Given the description of an element on the screen output the (x, y) to click on. 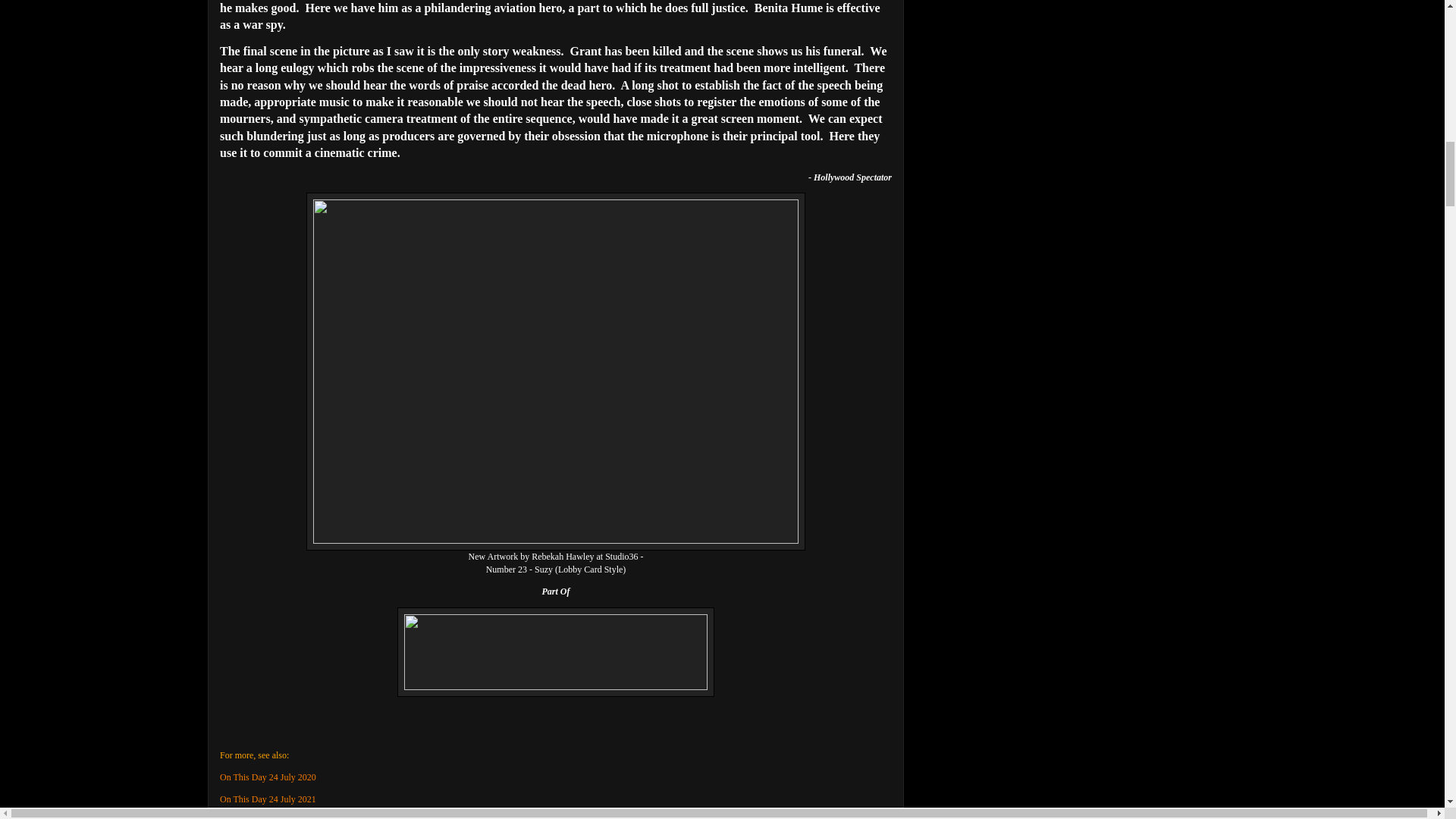
On This Day 24 July 2021 (267, 798)
On This Day 24 July 2020 (267, 777)
Quote From Today 24 July 2022 (278, 817)
